Given the description of an element on the screen output the (x, y) to click on. 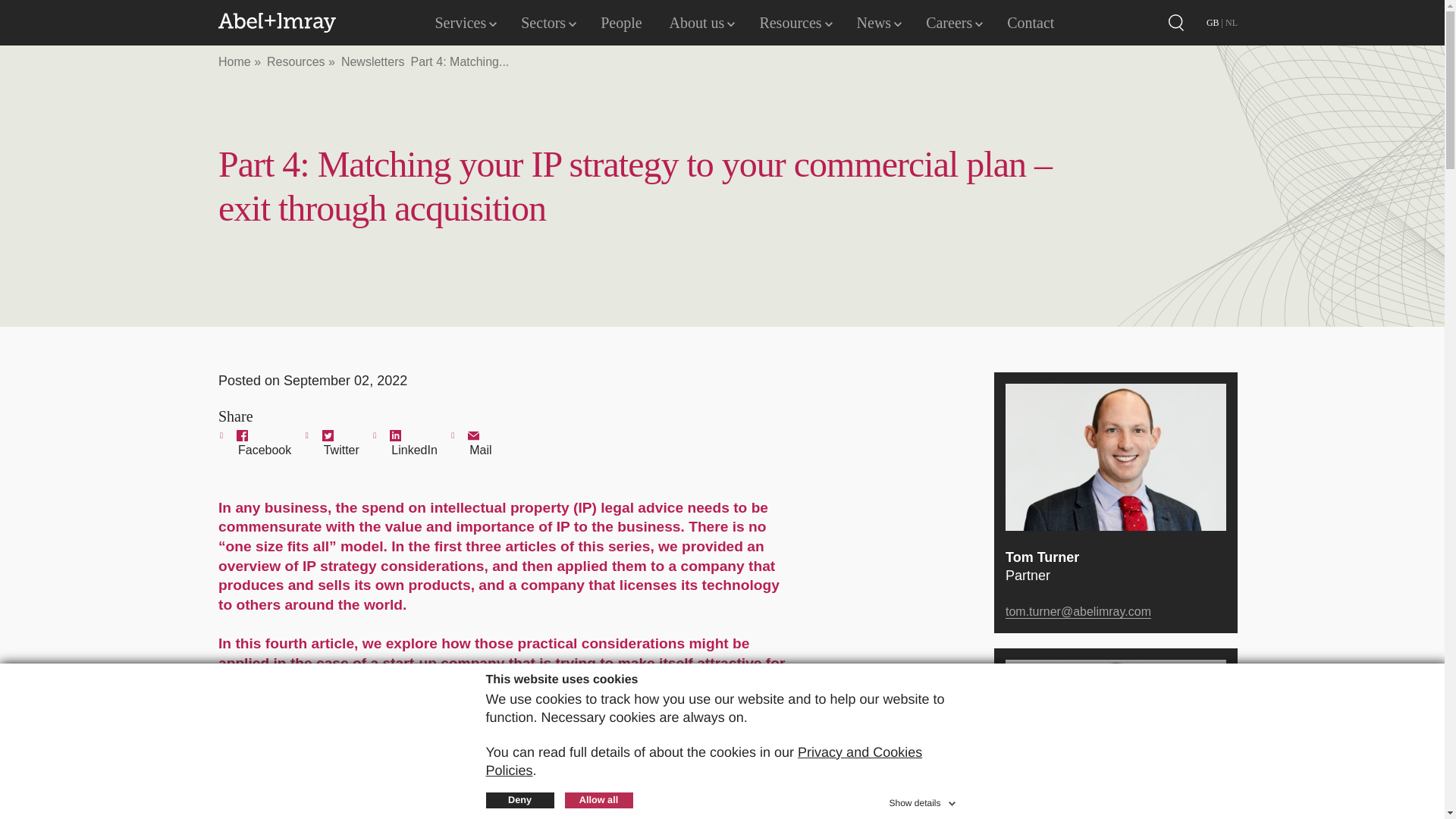
Allow all (597, 800)
Deny (518, 800)
Show details (923, 800)
Privacy and Cookies Policies (702, 761)
